Given the description of an element on the screen output the (x, y) to click on. 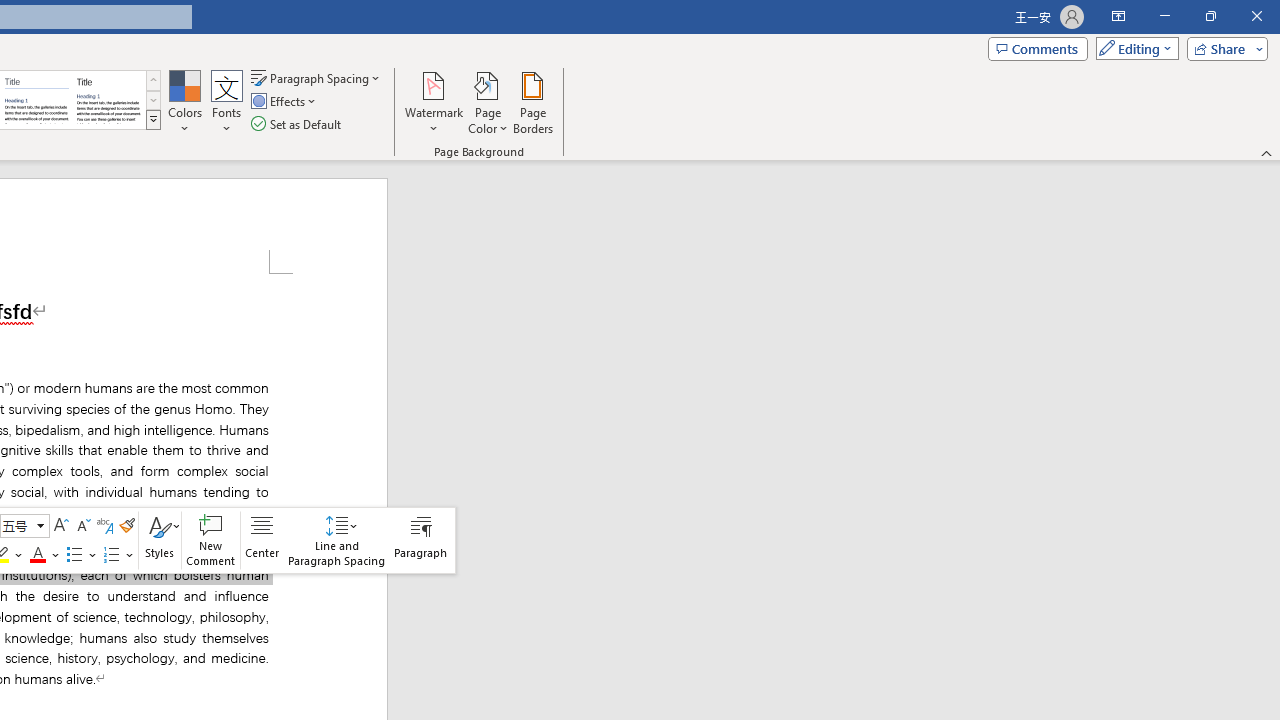
Colors (184, 102)
Grow Font (60, 525)
Shrink Font (82, 525)
Font Color Red (37, 554)
Class: NetUIAnchor (337, 540)
Paragraph Spacing (317, 78)
Set as Default (298, 124)
Line and Paragraph Spacing (337, 540)
